Given the description of an element on the screen output the (x, y) to click on. 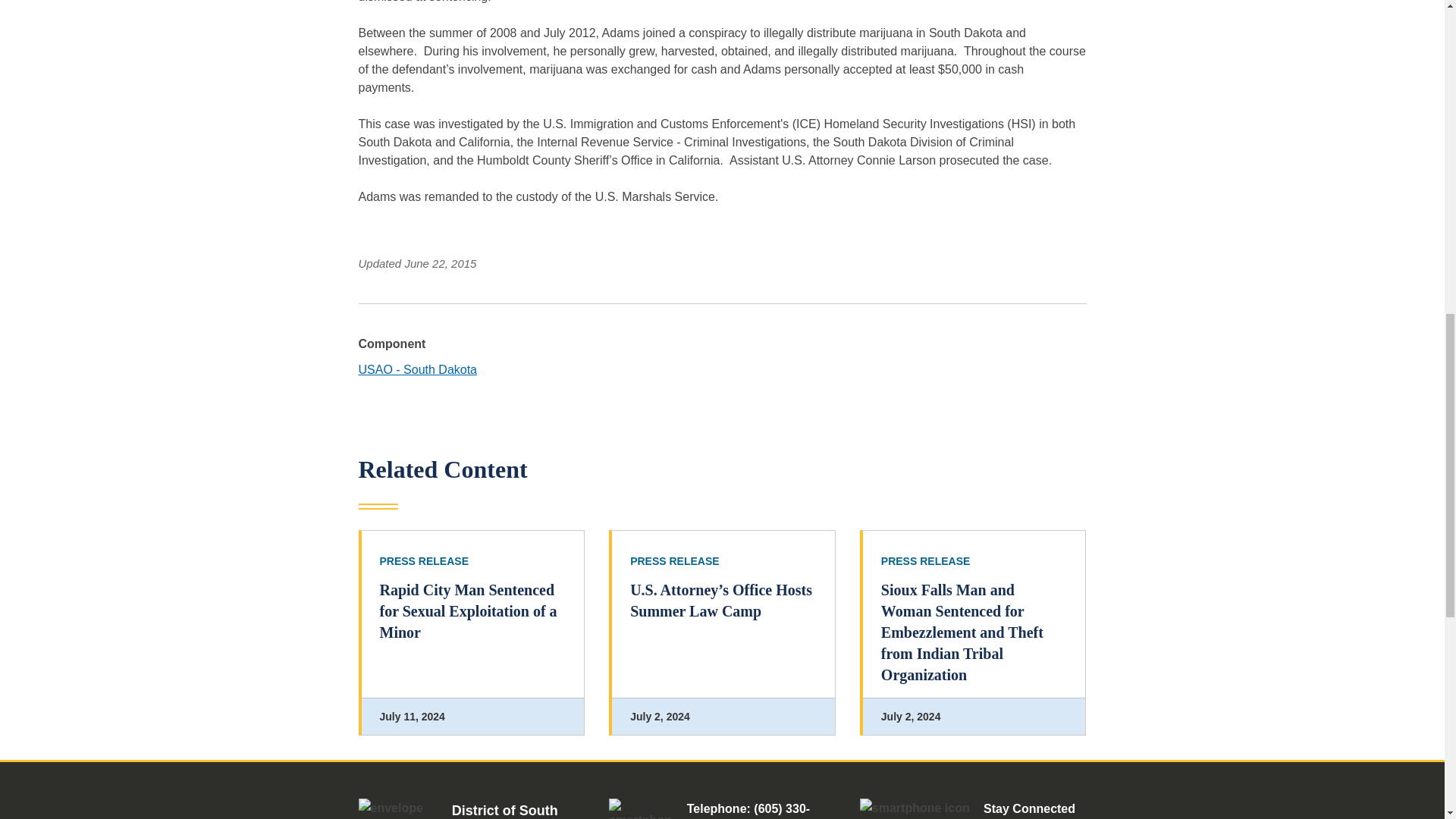
USAO - South Dakota (417, 369)
